Given the description of an element on the screen output the (x, y) to click on. 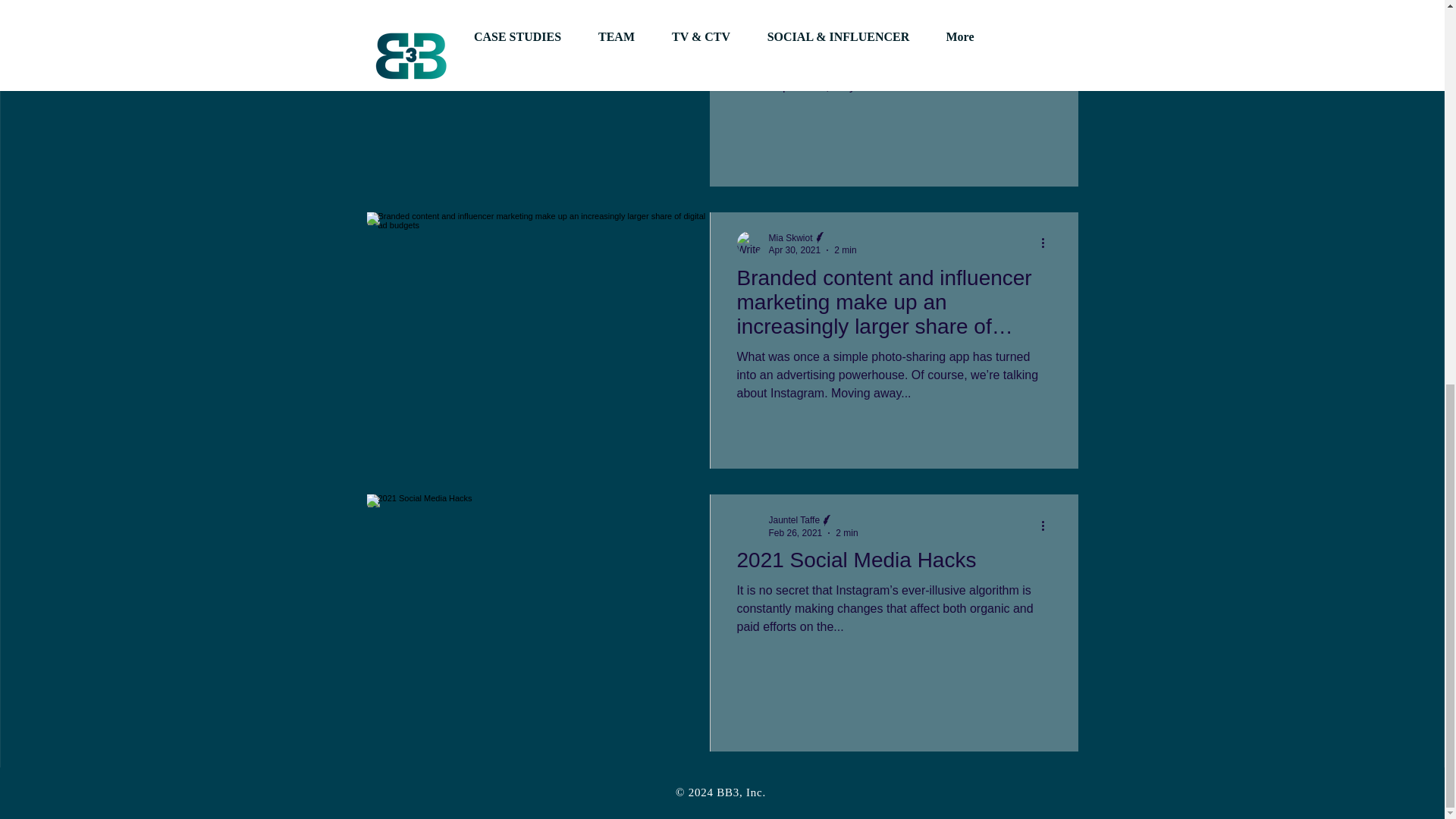
Jauntel Taffe (794, 520)
Influencer Marketing vs Display Advertising (893, 20)
2021 Social Media Hacks (893, 564)
2 min (846, 532)
Apr 30, 2021 (794, 249)
Feb 26, 2021 (795, 532)
2 min (845, 249)
Mia Skwiot (790, 237)
